Given the description of an element on the screen output the (x, y) to click on. 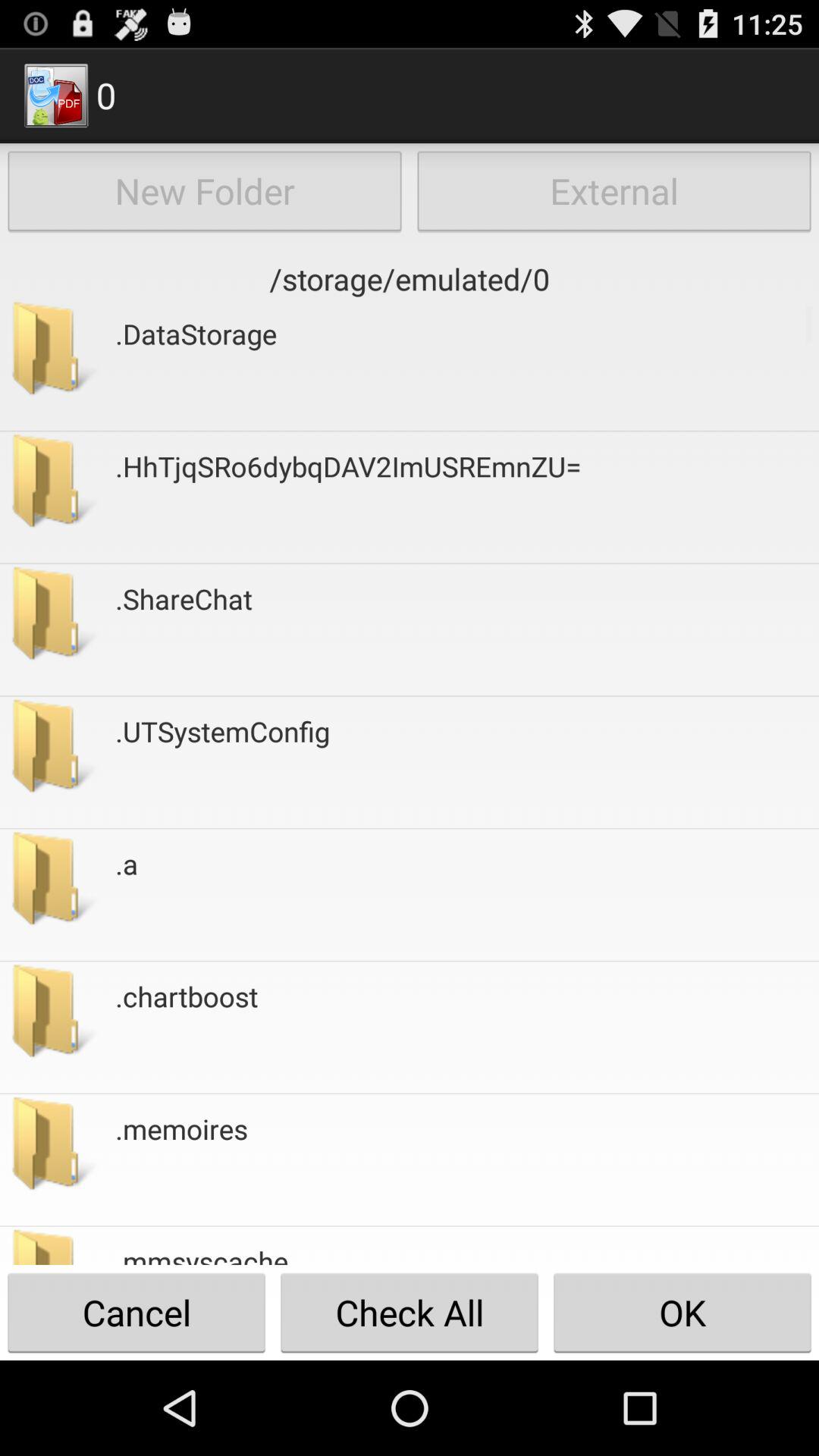
open the icon next to check all button (682, 1312)
